Given the description of an element on the screen output the (x, y) to click on. 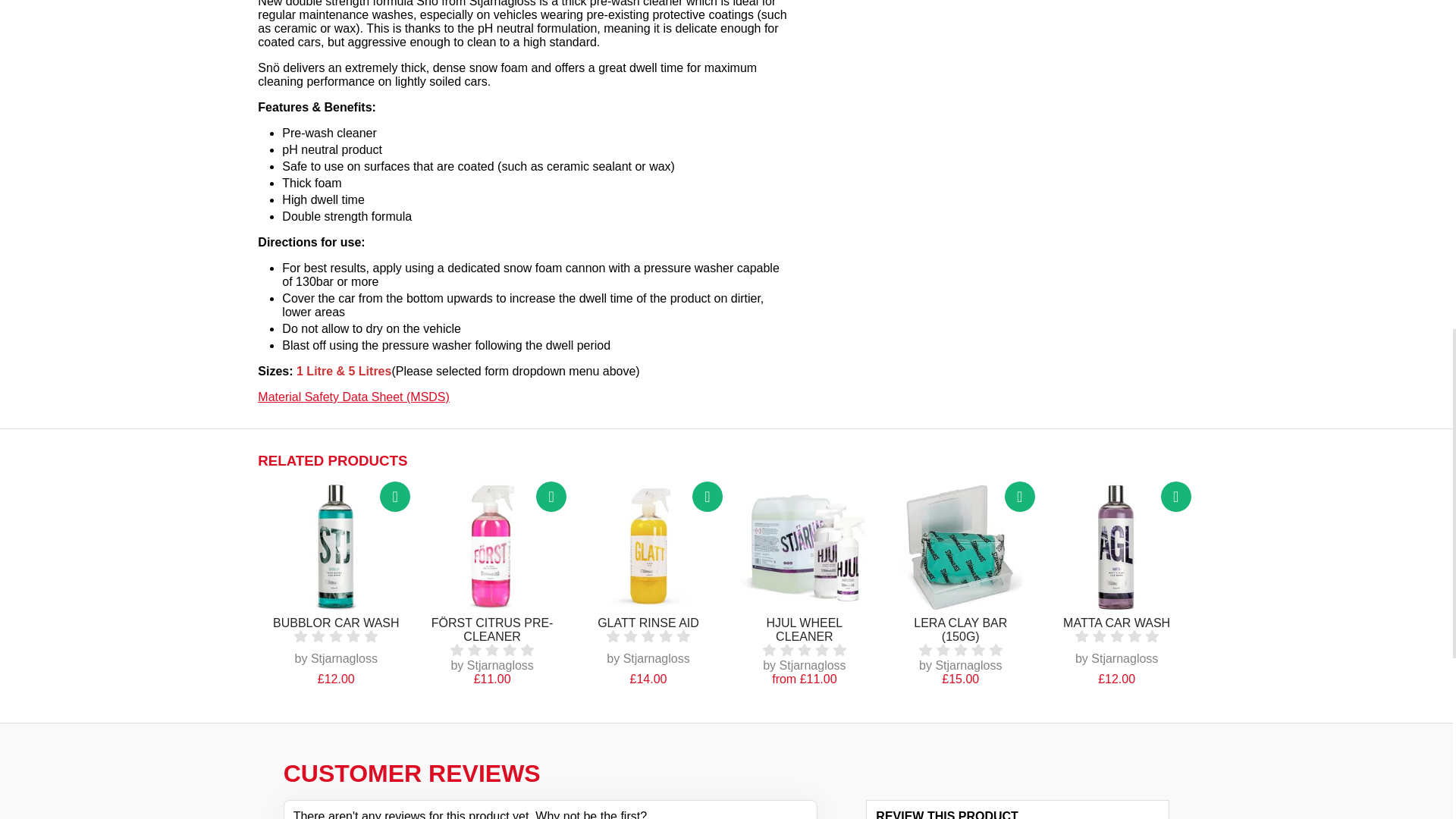
Stjarnagloss Hjul Wheel Cleaner (804, 547)
